Given the description of an element on the screen output the (x, y) to click on. 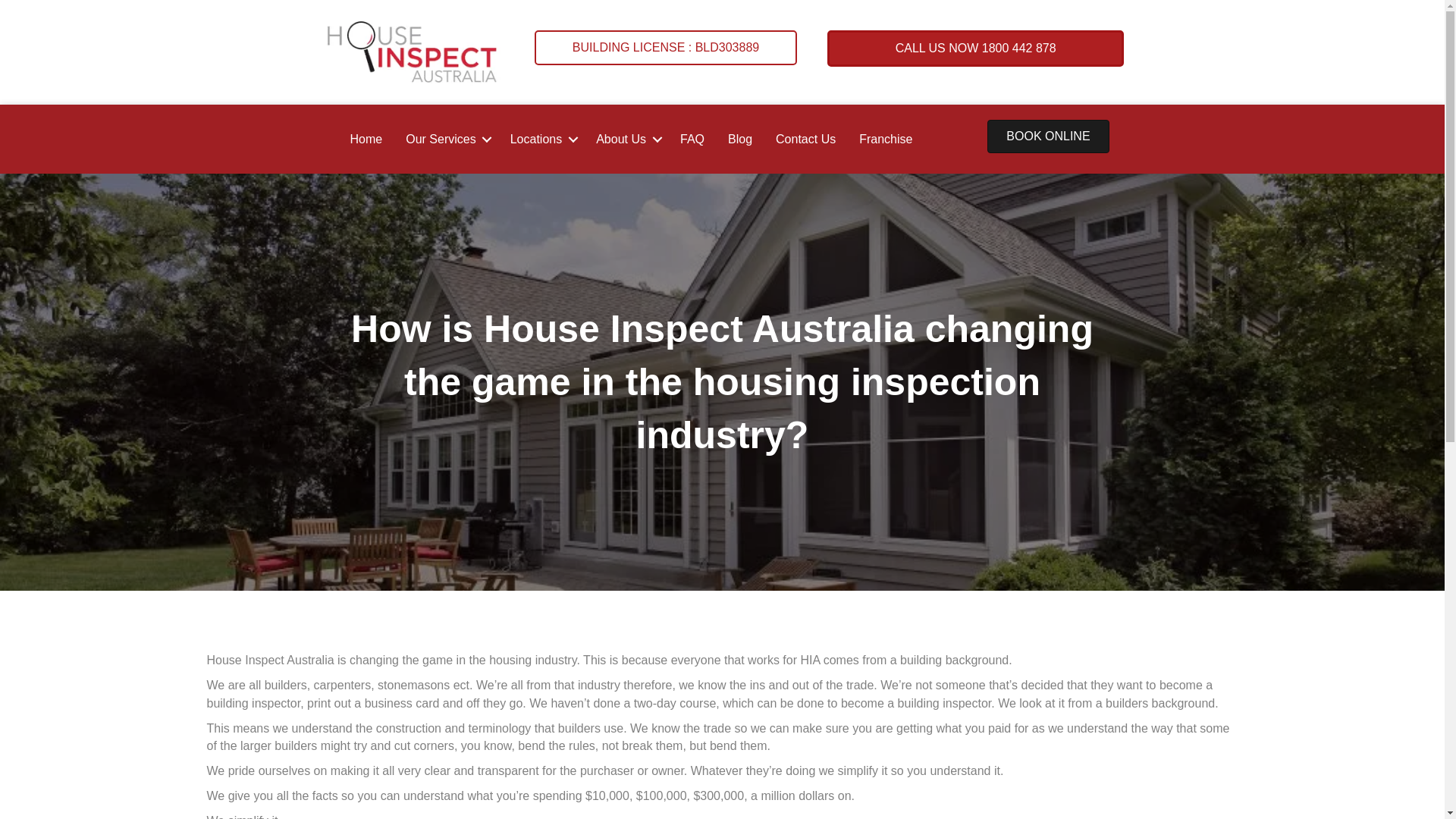
Blog Element type: text (739, 138)
Franchise Element type: text (885, 138)
house inspect australia logo Element type: hover (412, 52)
Our Services Element type: text (445, 138)
BOOK ONLINE Element type: text (1047, 136)
BUILDING LICENSE : BLD303889 Element type: text (665, 47)
FAQ Element type: text (691, 138)
About Us Element type: text (626, 138)
Locations Element type: text (541, 138)
Home Element type: text (366, 138)
CALL US NOW 1800 442 878 Element type: text (975, 48)
Contact Us Element type: text (805, 138)
